Given the description of an element on the screen output the (x, y) to click on. 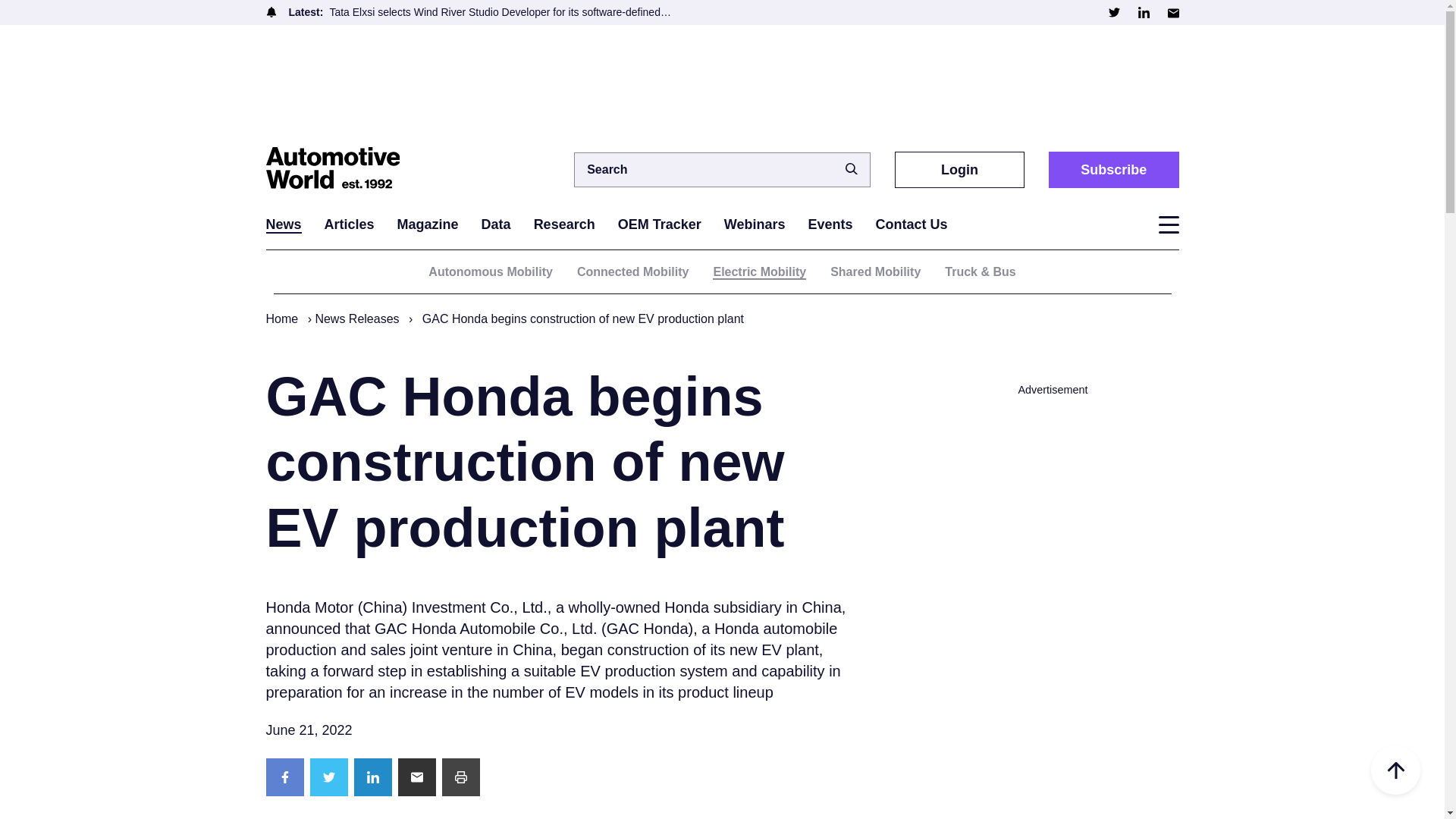
Shared Mobility (874, 271)
Connected Mobility (632, 271)
Login (960, 169)
Subscribe (1112, 169)
Subscribe (1112, 169)
Linkedin (1142, 12)
Autonomous Mobility (490, 271)
Data (496, 224)
Articles (349, 224)
Log In (936, 439)
3rd party ad content (721, 83)
News (282, 225)
Twitter (1113, 12)
Automotive World (340, 169)
Login (960, 169)
